Given the description of an element on the screen output the (x, y) to click on. 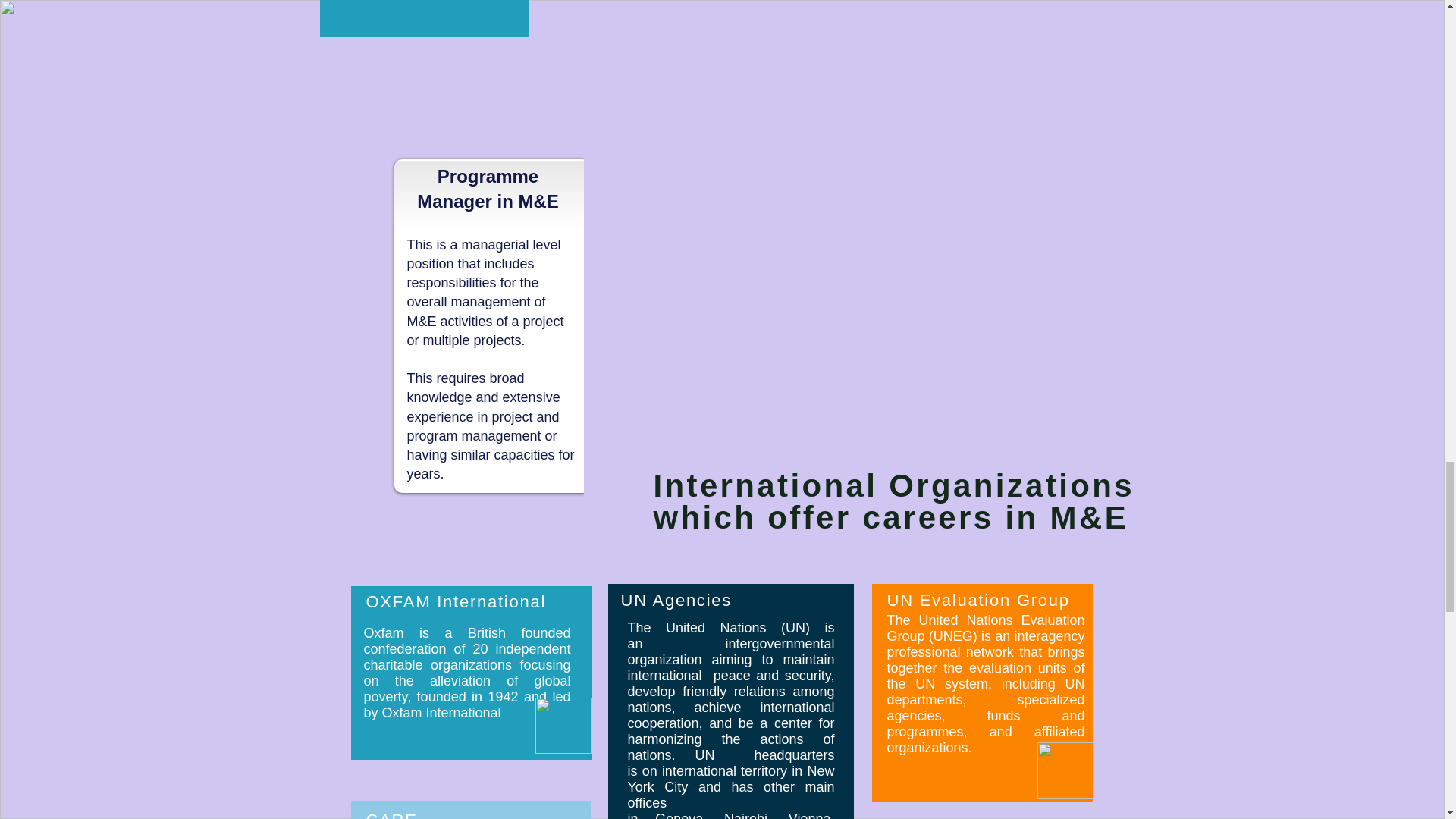
Geneva (679, 815)
intergovernmental organization (730, 651)
New York City (730, 778)
Nairobi (745, 815)
Vienna (810, 815)
international territory (724, 770)
security (807, 675)
headquarters is (730, 762)
peace (732, 675)
